Given the description of an element on the screen output the (x, y) to click on. 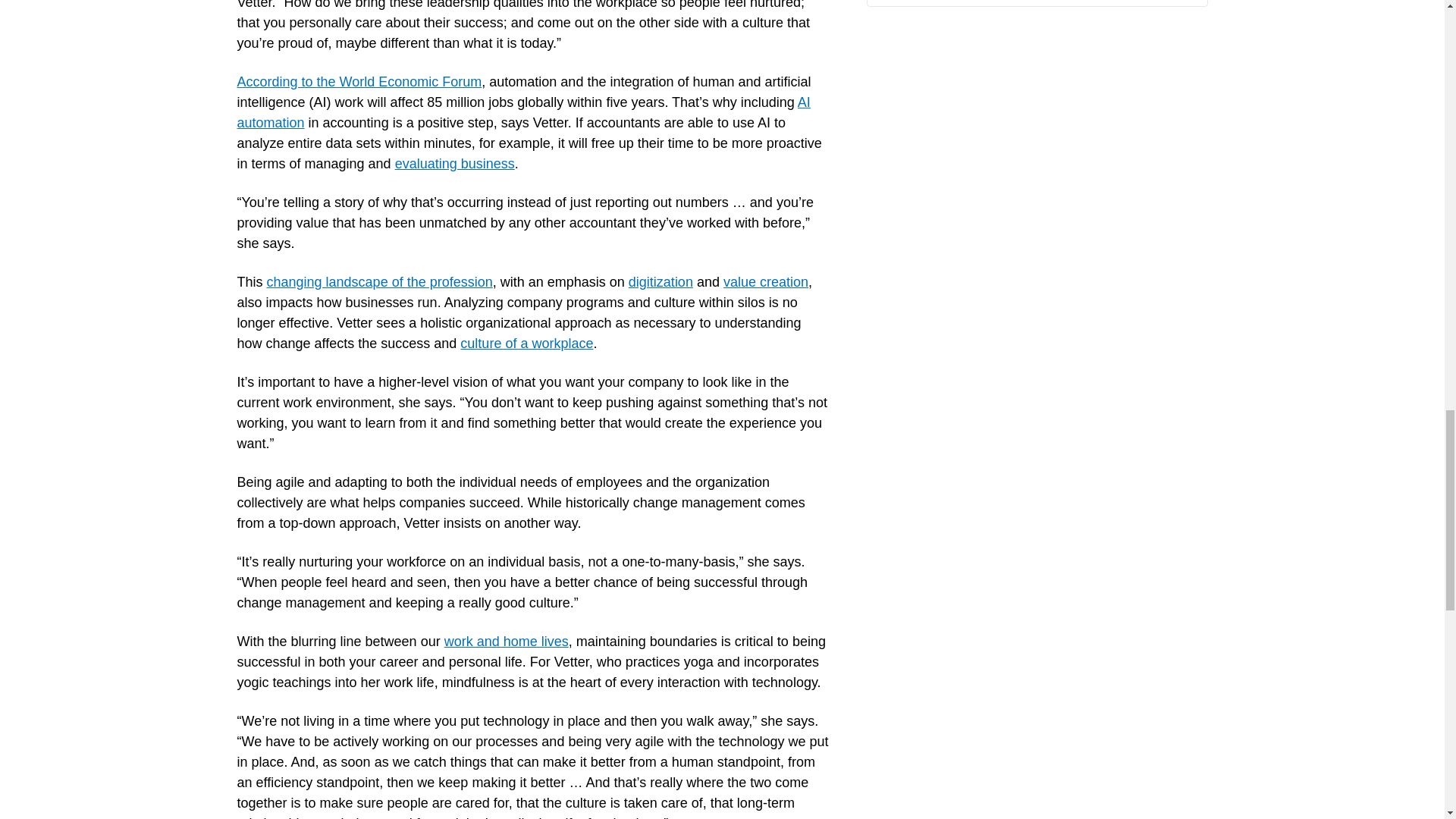
According to the World Economic Forum (358, 81)
work and home lives (506, 641)
AI automation (522, 112)
culture of a workplace (526, 343)
changing landscape of the profession (379, 281)
evaluating business (454, 163)
value creation (765, 281)
digitization (660, 281)
